Given the description of an element on the screen output the (x, y) to click on. 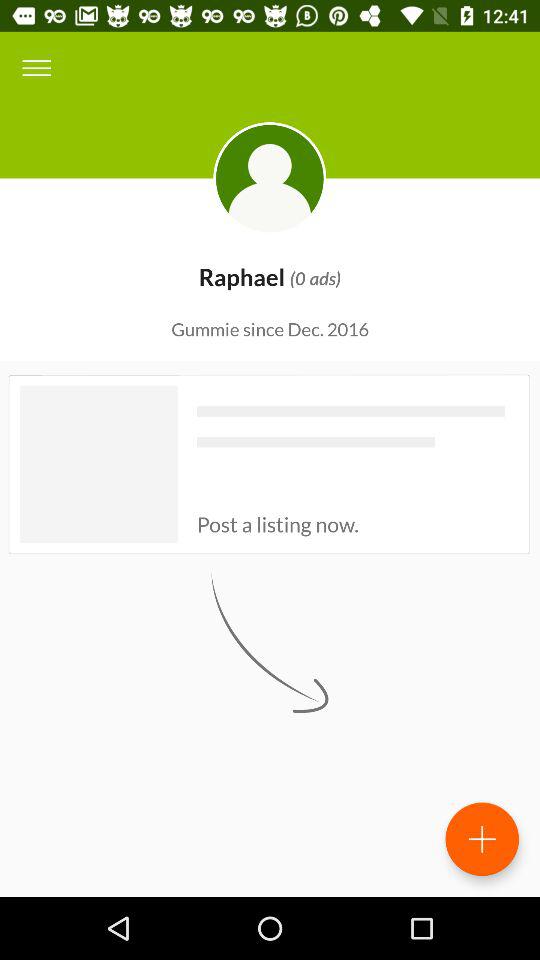
turn off icon at the bottom right corner (482, 839)
